Given the description of an element on the screen output the (x, y) to click on. 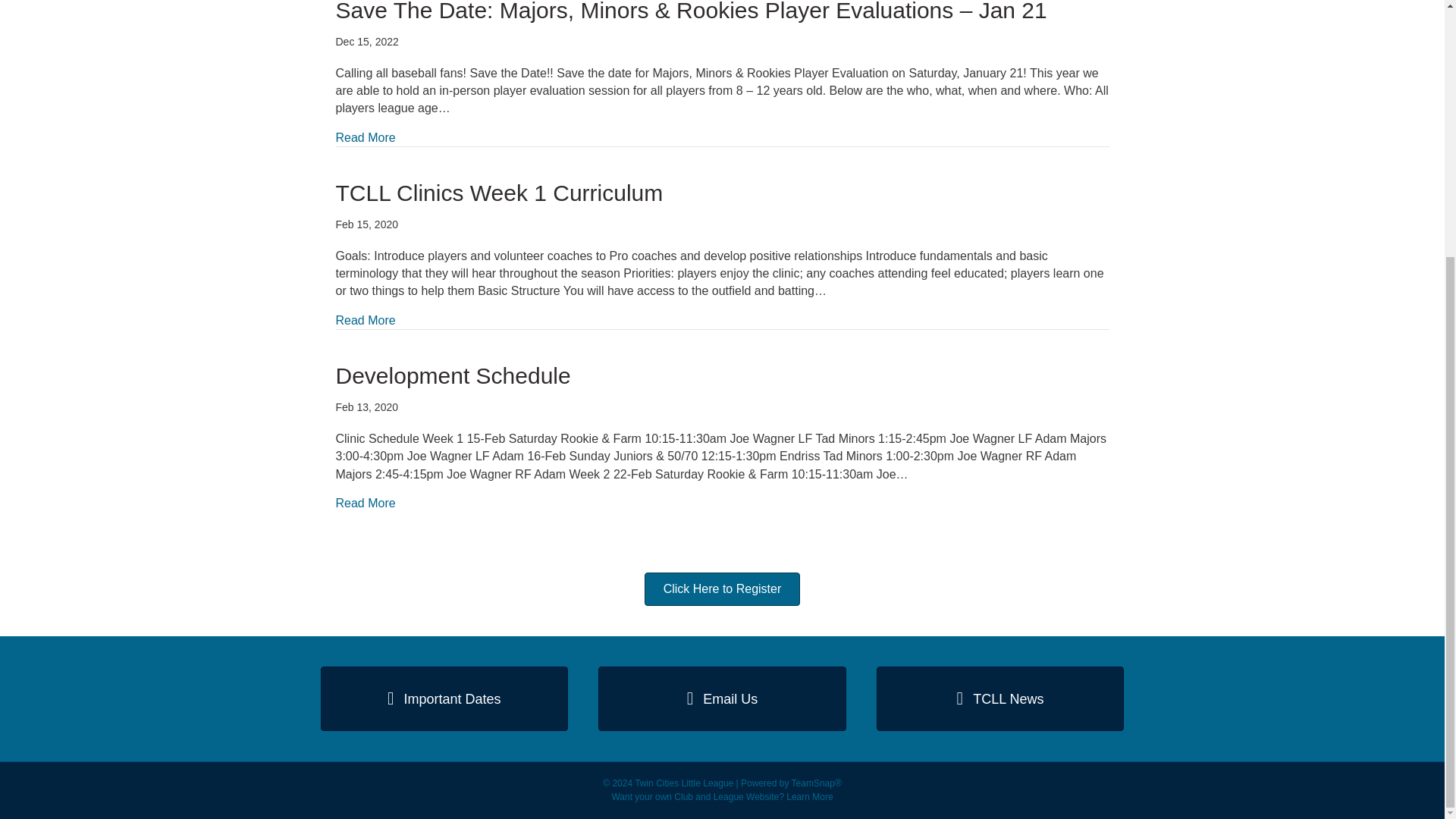
Powered by TeamSnap (816, 783)
TCLL Clinics Week 1 Curriculum (498, 192)
Development Schedule (364, 502)
TCLL Clinics Week 1 Curriculum (364, 320)
Development Schedule (452, 375)
